Given the description of an element on the screen output the (x, y) to click on. 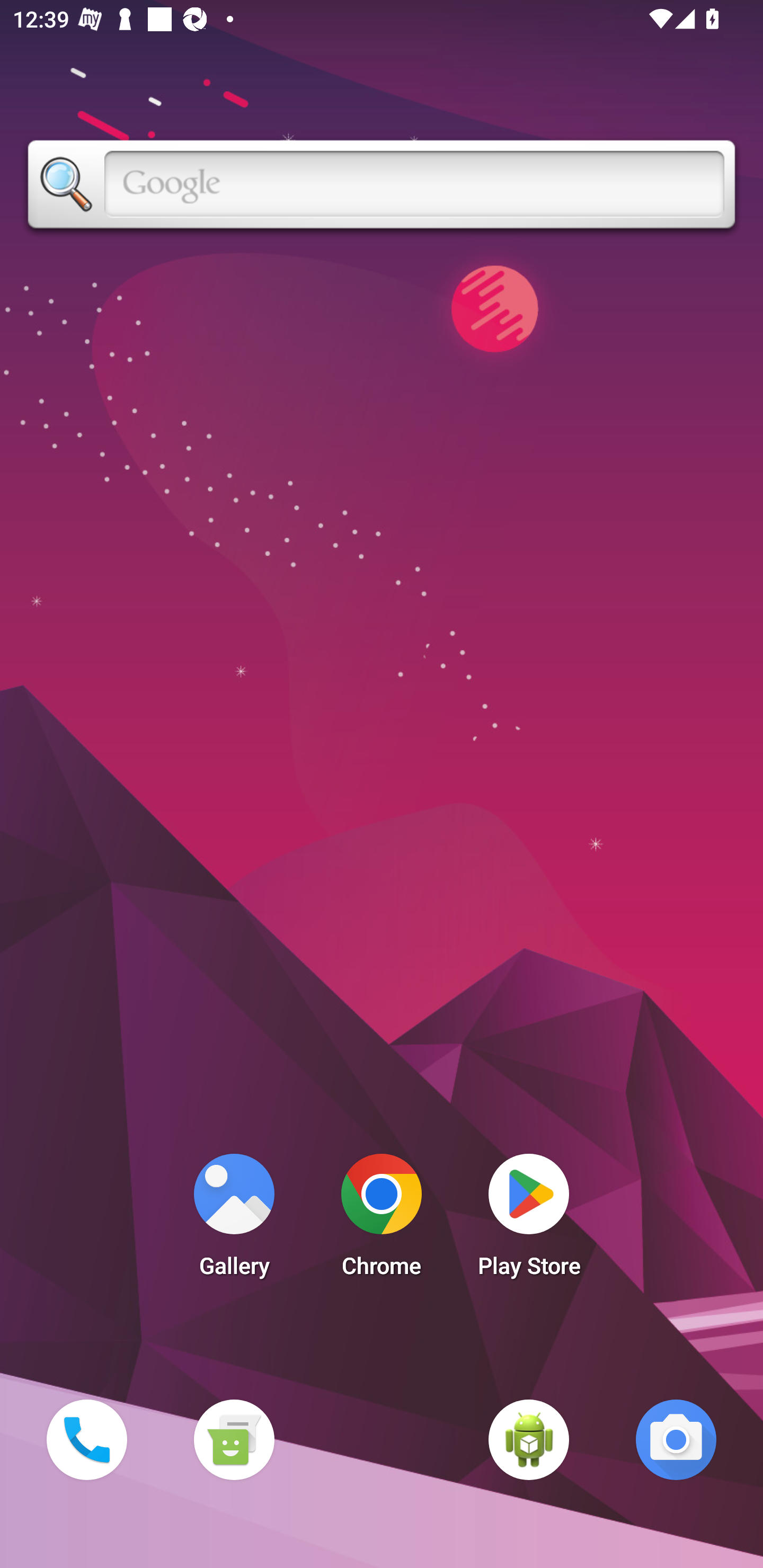
Gallery (233, 1220)
Chrome (381, 1220)
Play Store (528, 1220)
Phone (86, 1439)
Messaging (233, 1439)
WebView Browser Tester (528, 1439)
Camera (676, 1439)
